Given the description of an element on the screen output the (x, y) to click on. 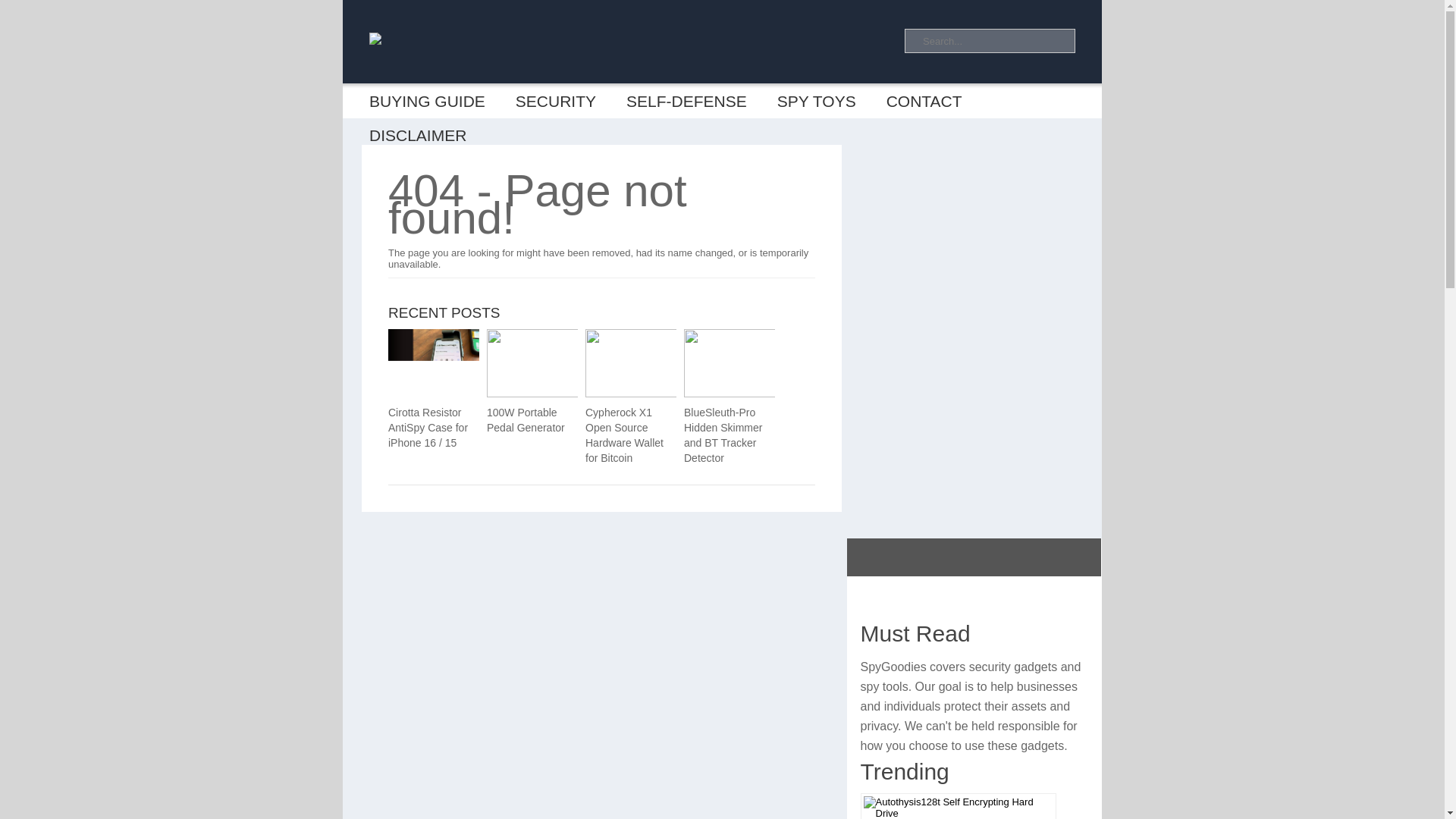
100W Portable Pedal Generator (532, 419)
SELF-DEFENSE (686, 100)
SECURITY (555, 100)
BUYING GUIDE (426, 100)
DISCLAIMER (417, 134)
100W Portable Pedal Generator (542, 393)
Cypherock X1 Open Source Hardware Wallet for Bitcoin (641, 393)
Cypherock X1 Open Source Hardware Wallet for Bitcoin (631, 435)
